Given the description of an element on the screen output the (x, y) to click on. 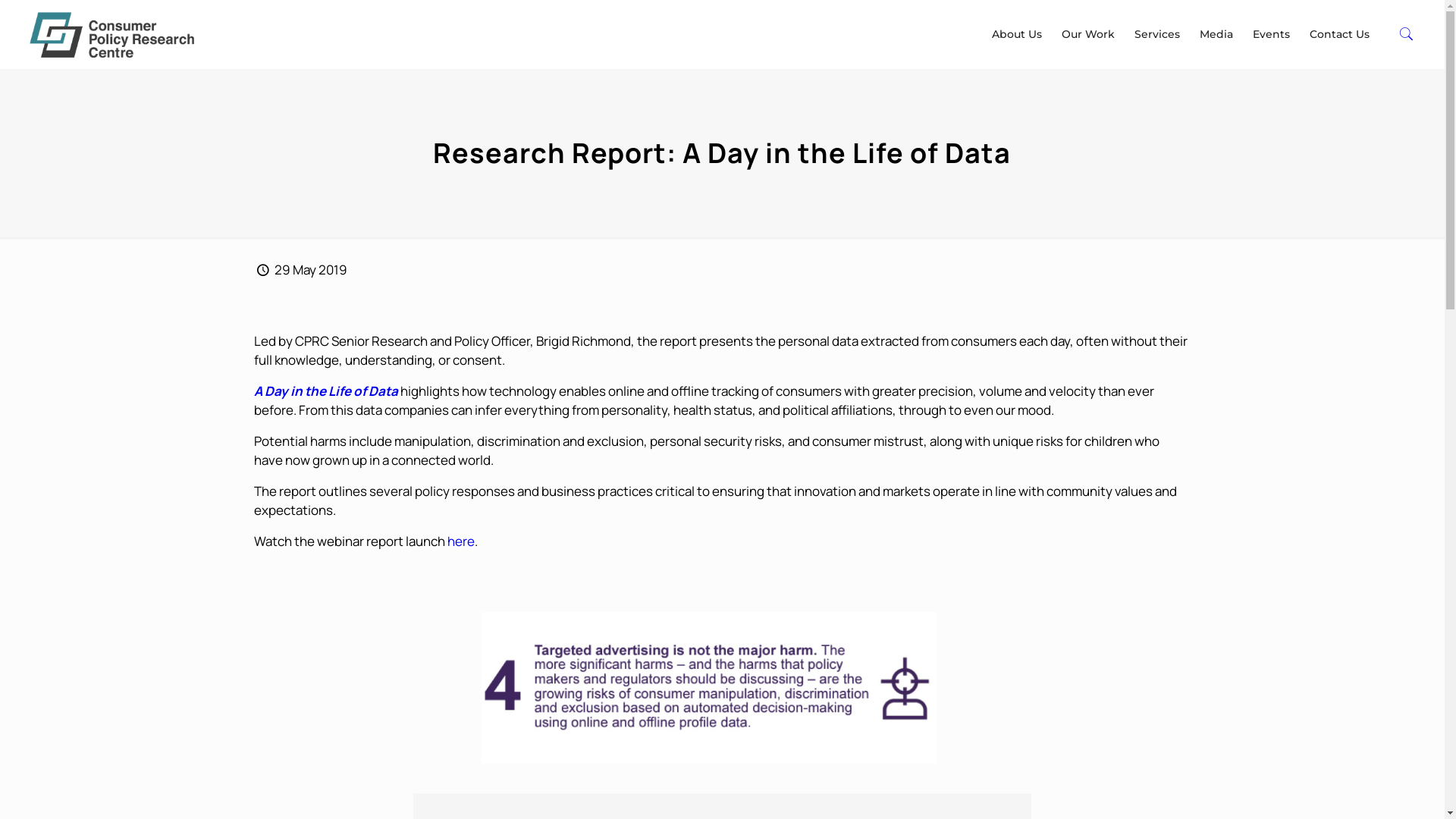
Services Element type: text (1156, 34)
Events Element type: text (1270, 34)
Contact Us Element type: text (1339, 34)
here Element type: text (460, 540)
About Us Element type: text (1016, 34)
Media Element type: text (1215, 34)
CPRC Element type: hover (111, 34)
A Day in the Life of Data Element type: text (326, 390)
Our Work Element type: text (1087, 34)
